Given the description of an element on the screen output the (x, y) to click on. 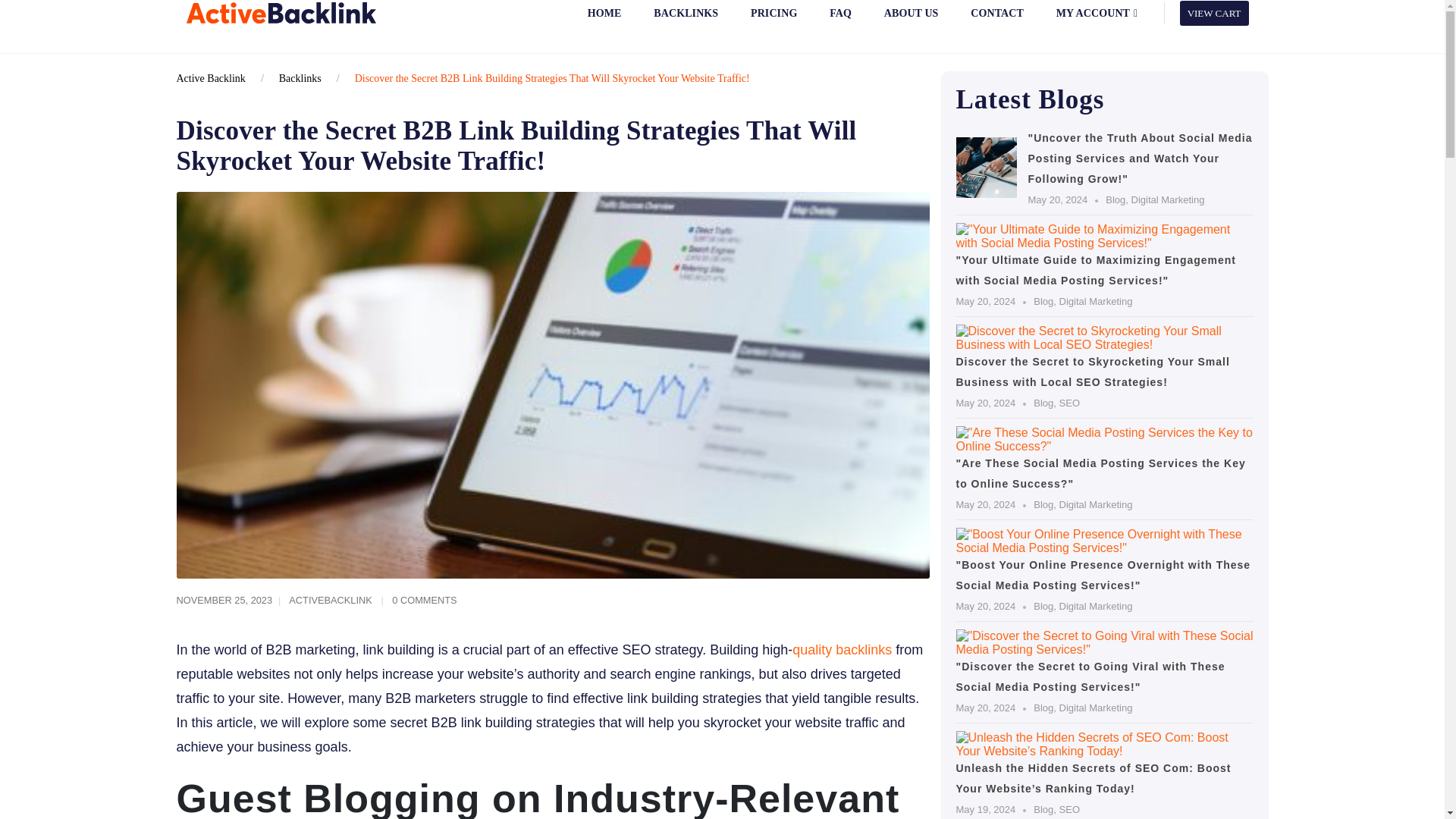
ACTIVEBACKLINK (330, 600)
CONTACT (997, 20)
BACKLINKS (685, 20)
Posts by activebacklink (330, 600)
ABOUT US (910, 20)
